Given the description of an element on the screen output the (x, y) to click on. 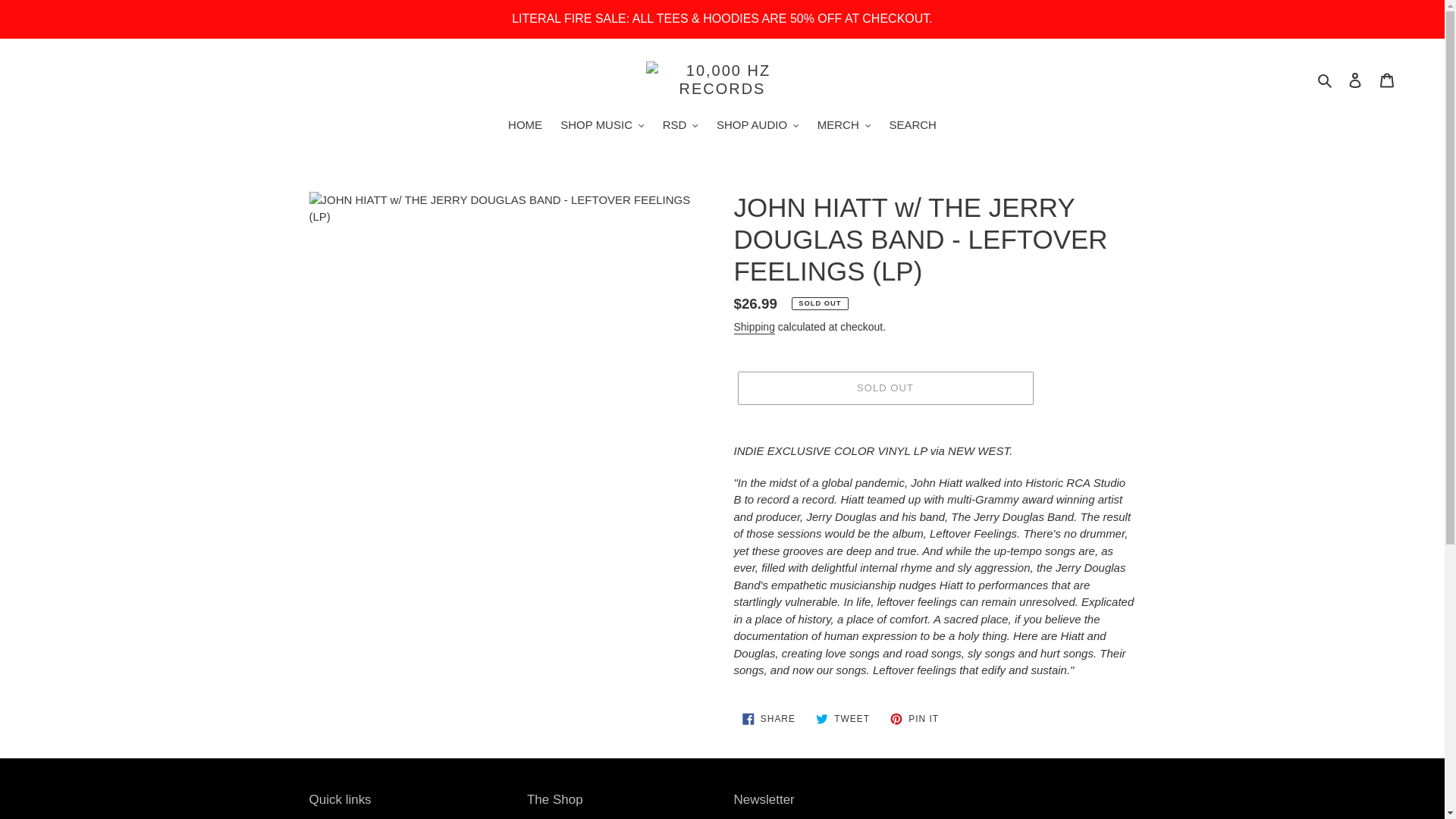
Cart (1387, 79)
Log in (1355, 79)
Search (1326, 79)
